Given the description of an element on the screen output the (x, y) to click on. 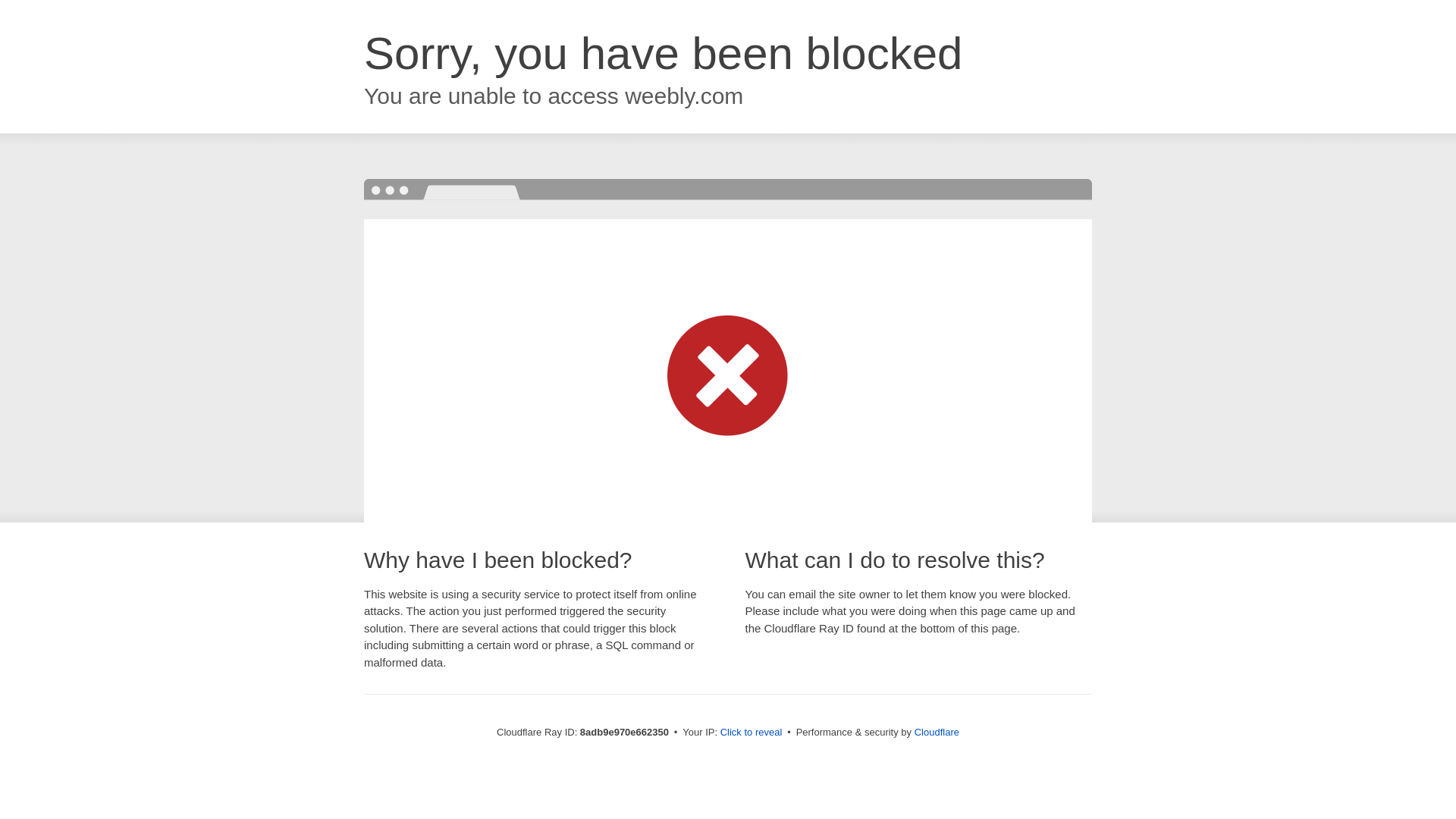
Cloudflare (936, 731)
Click to reveal (751, 732)
